Given the description of an element on the screen output the (x, y) to click on. 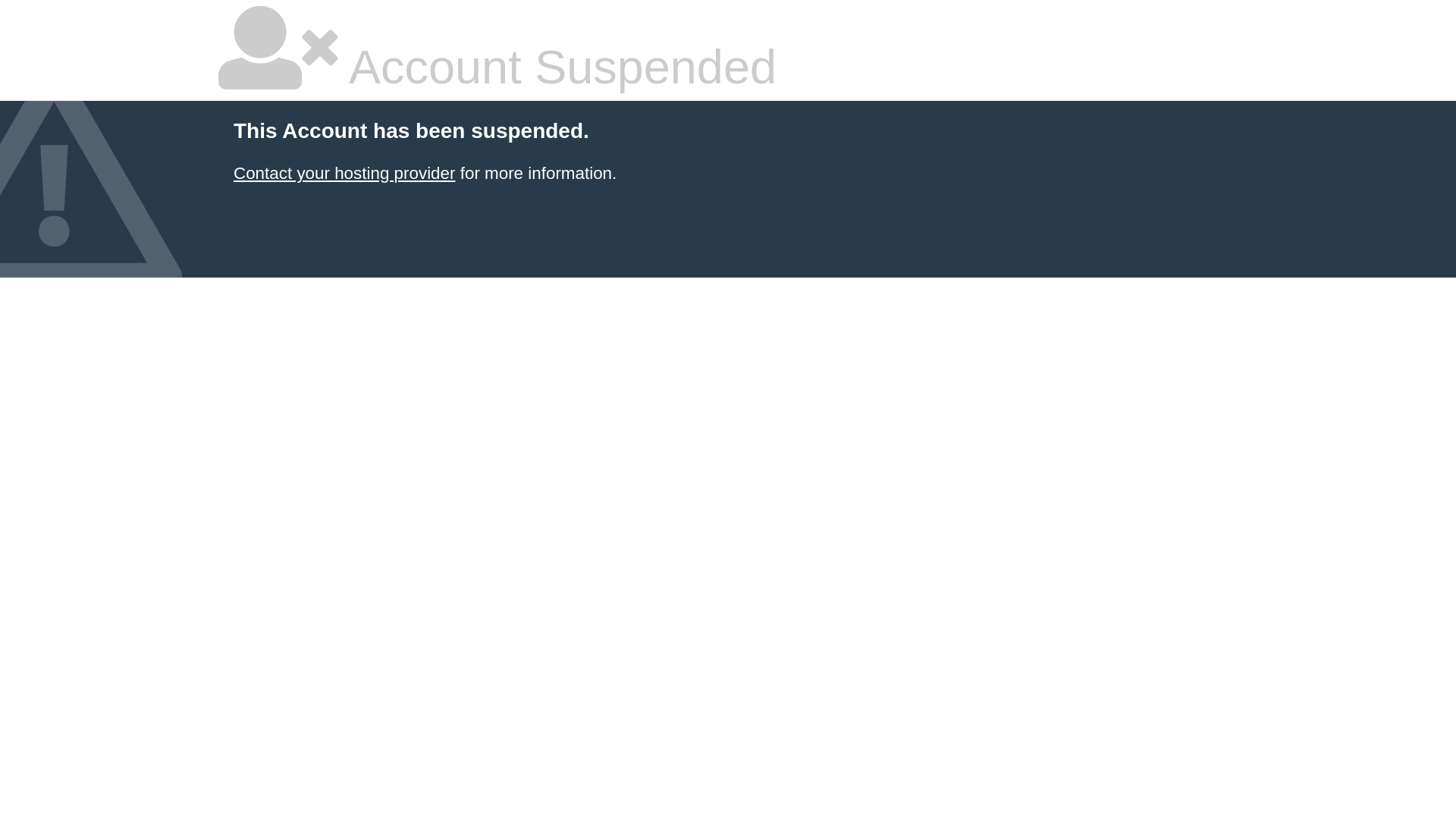
Contact your hosting provider Element type: text (344, 172)
